Given the description of an element on the screen output the (x, y) to click on. 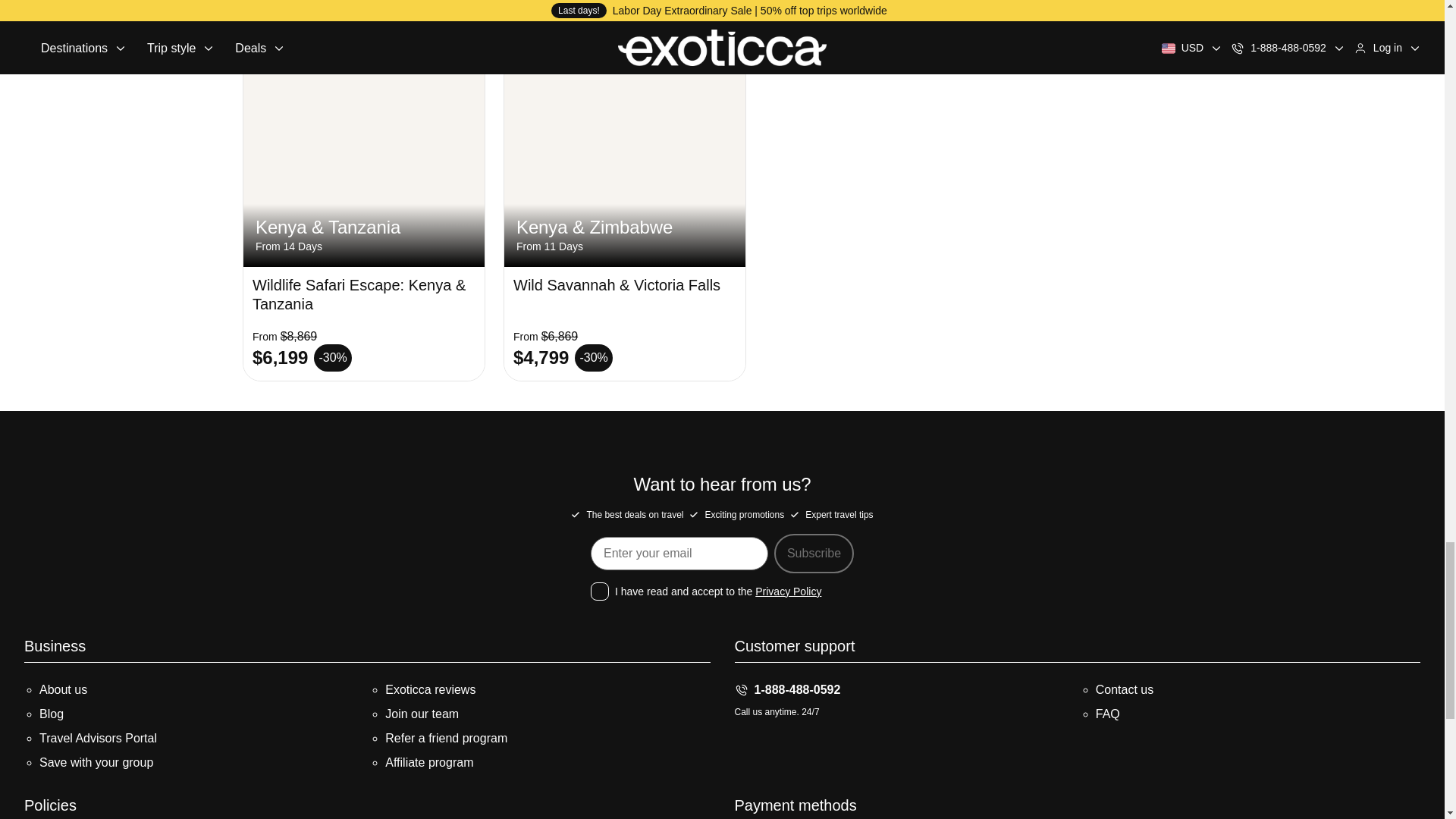
check-icon (574, 514)
check-icon (693, 514)
check-icon (794, 514)
phone-call-icon (740, 689)
